Given the description of an element on the screen output the (x, y) to click on. 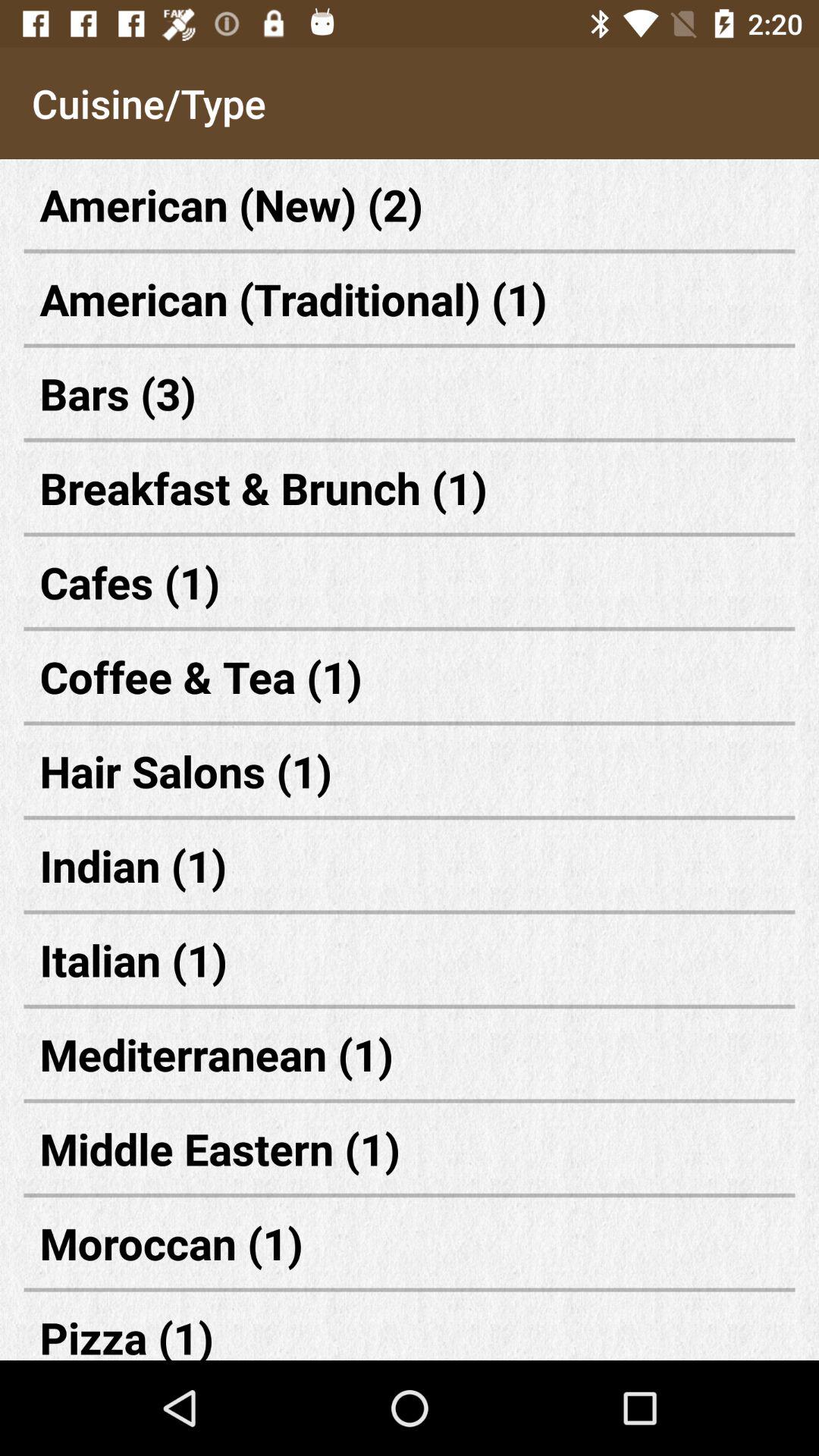
swipe until the moroccan (1) (409, 1242)
